Given the description of an element on the screen output the (x, y) to click on. 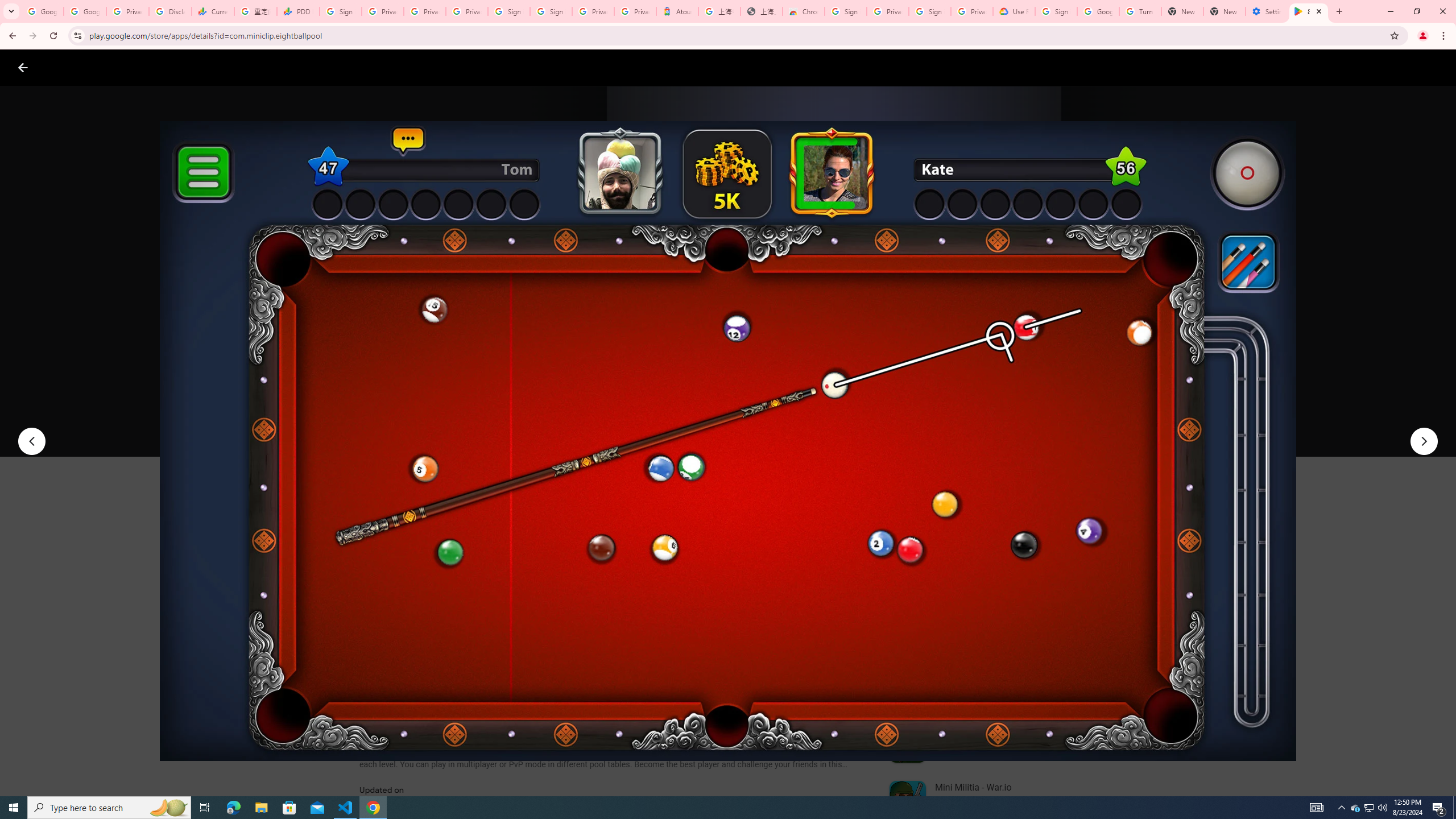
Sign in - Google Accounts (930, 11)
Close screenshot viewer (22, 67)
Games (141, 67)
8 Ball Pool - Apps on Google Play (1308, 11)
Currencies - Google Finance (212, 11)
Privacy Checkup (467, 11)
Google Play logo (64, 67)
Content rating (553, 373)
